Given the description of an element on the screen output the (x, y) to click on. 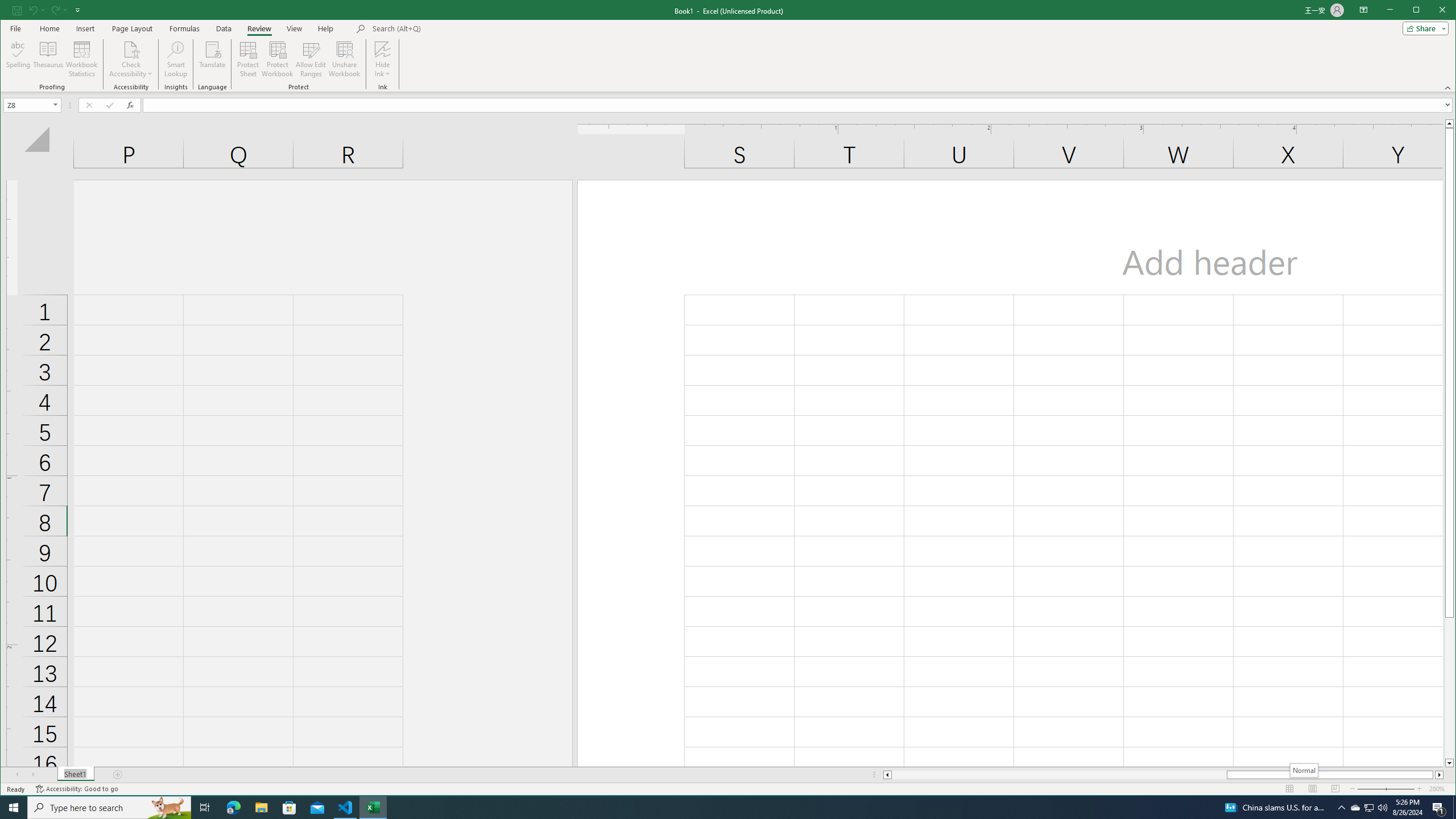
Search highlights icon opens search home window (167, 807)
Excel - 1 running window (373, 807)
Unshare Workbook (344, 59)
Spelling... (18, 59)
